Given the description of an element on the screen output the (x, y) to click on. 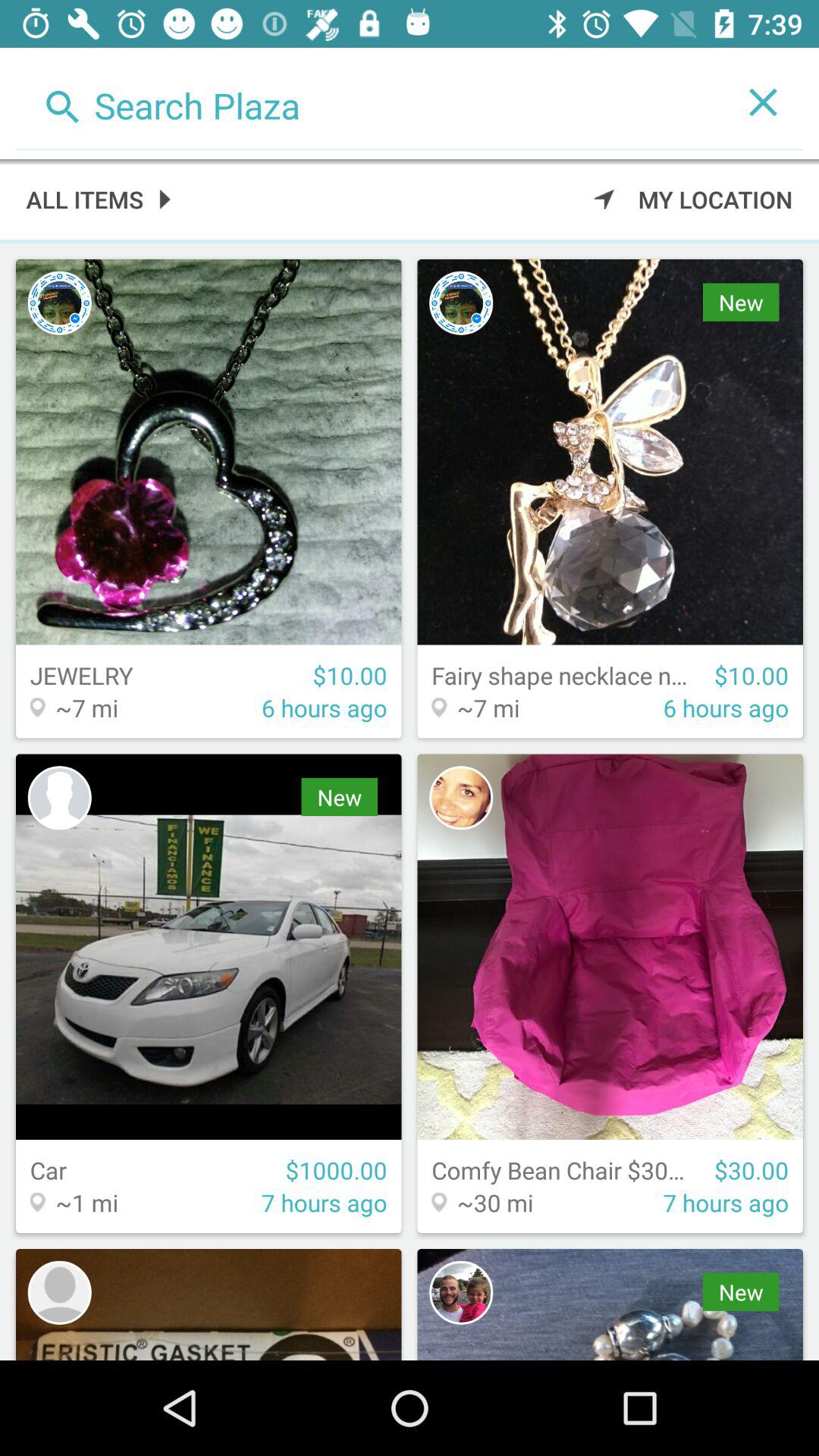
open search menu (369, 102)
